Given the description of an element on the screen output the (x, y) to click on. 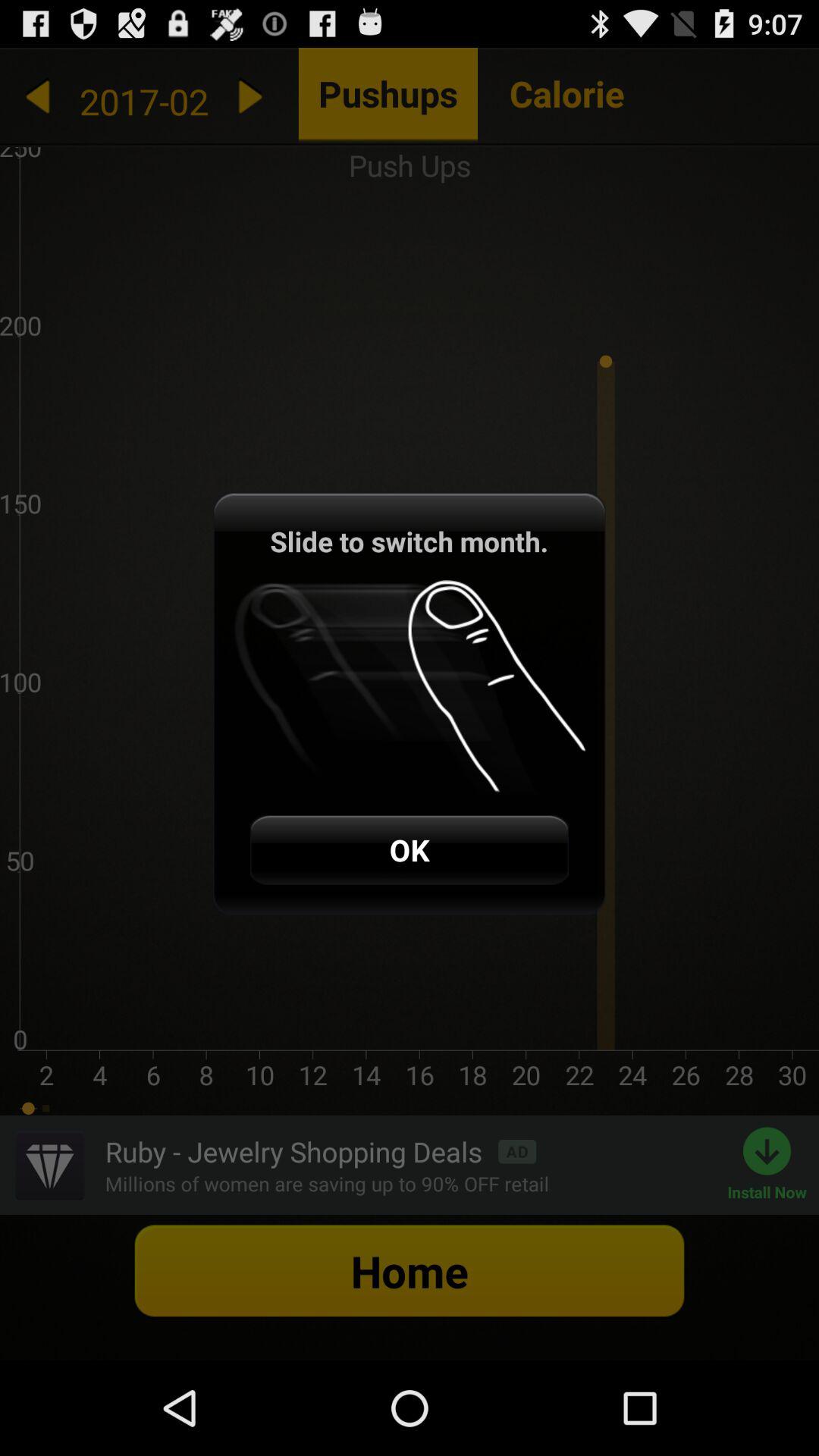
swipe to the ok (409, 849)
